Given the description of an element on the screen output the (x, y) to click on. 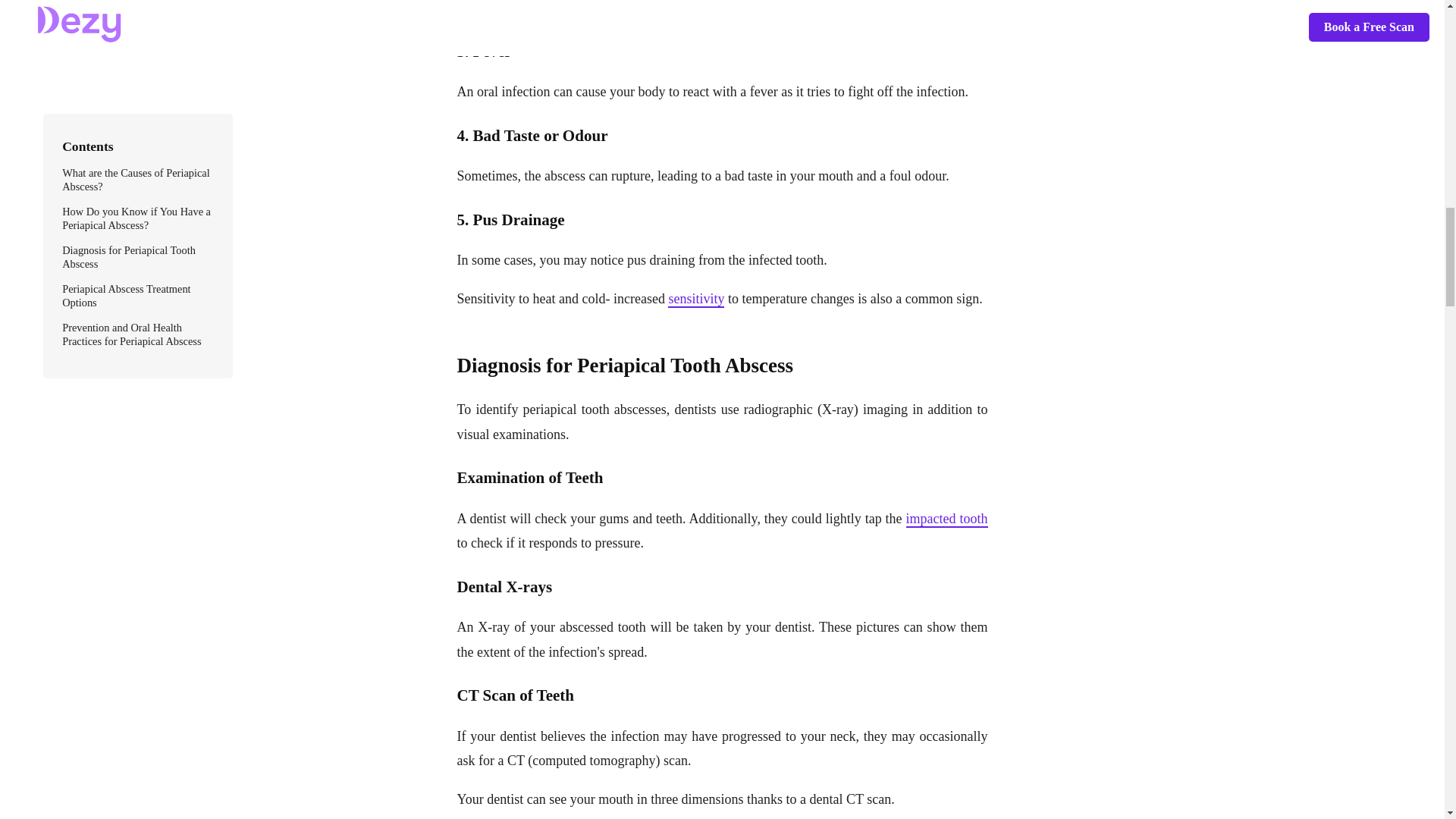
sensitivity (695, 299)
impacted tooth (946, 519)
